Given the description of an element on the screen output the (x, y) to click on. 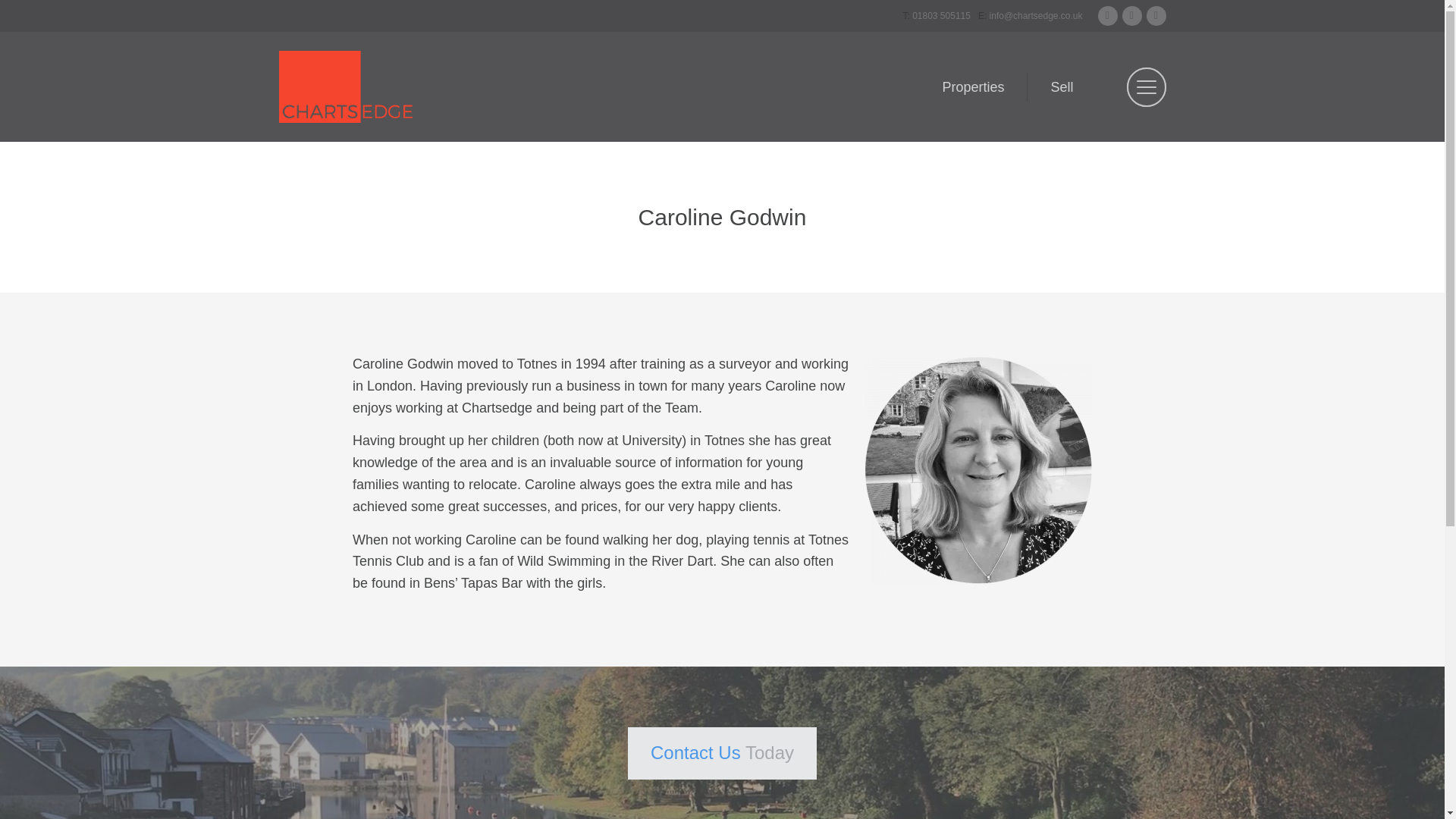
Contact Us Today (721, 753)
T: 01803 505115 (935, 15)
Properties (972, 86)
Sell (1061, 86)
